Given the description of an element on the screen output the (x, y) to click on. 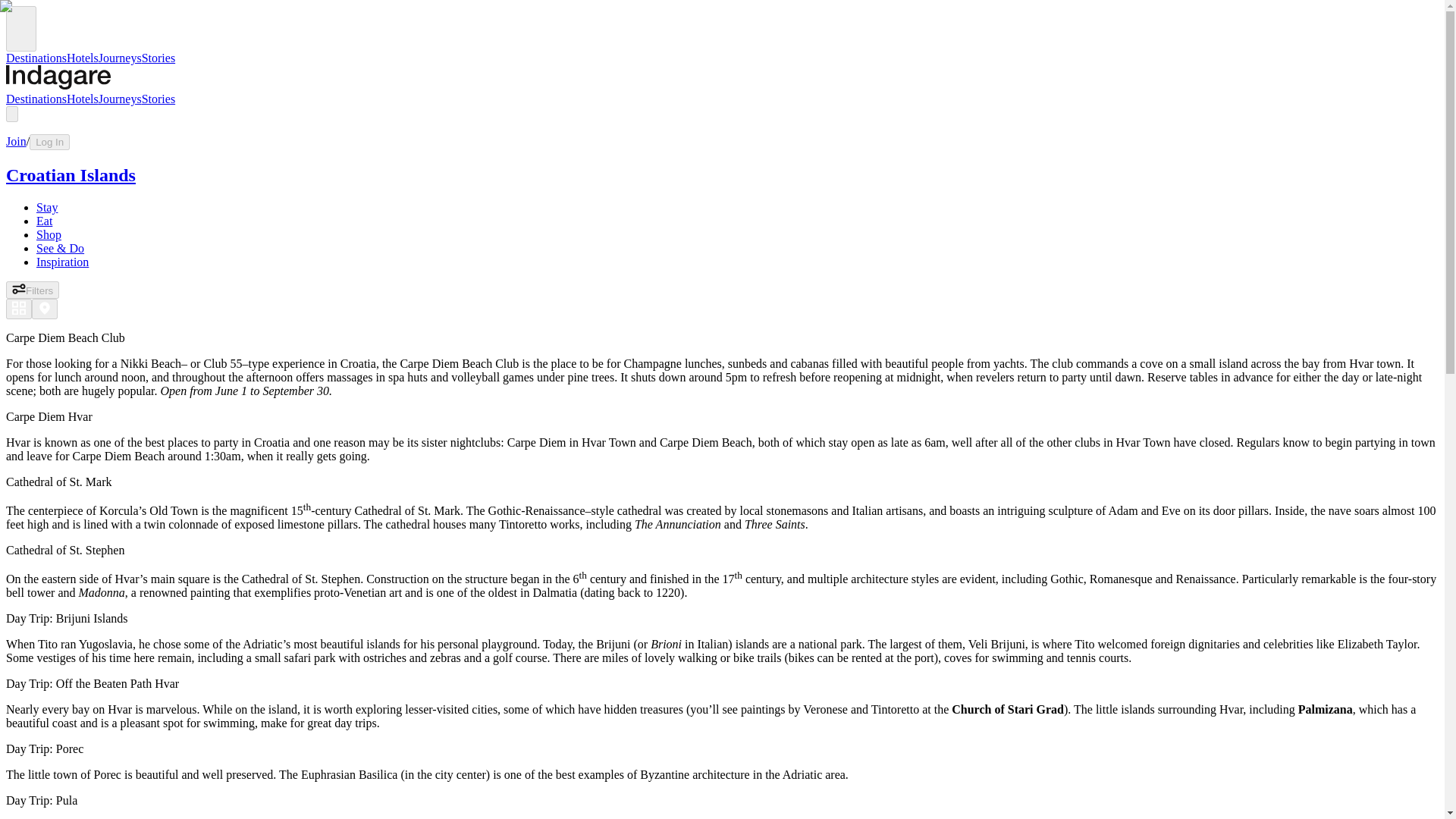
Croatian Islands (70, 175)
Journeys (120, 98)
Inspiration (62, 261)
Filters (32, 289)
Journeys (120, 57)
Stay (47, 206)
Shop (48, 234)
Log In (49, 141)
Hotels (82, 98)
Stories (157, 98)
